Given the description of an element on the screen output the (x, y) to click on. 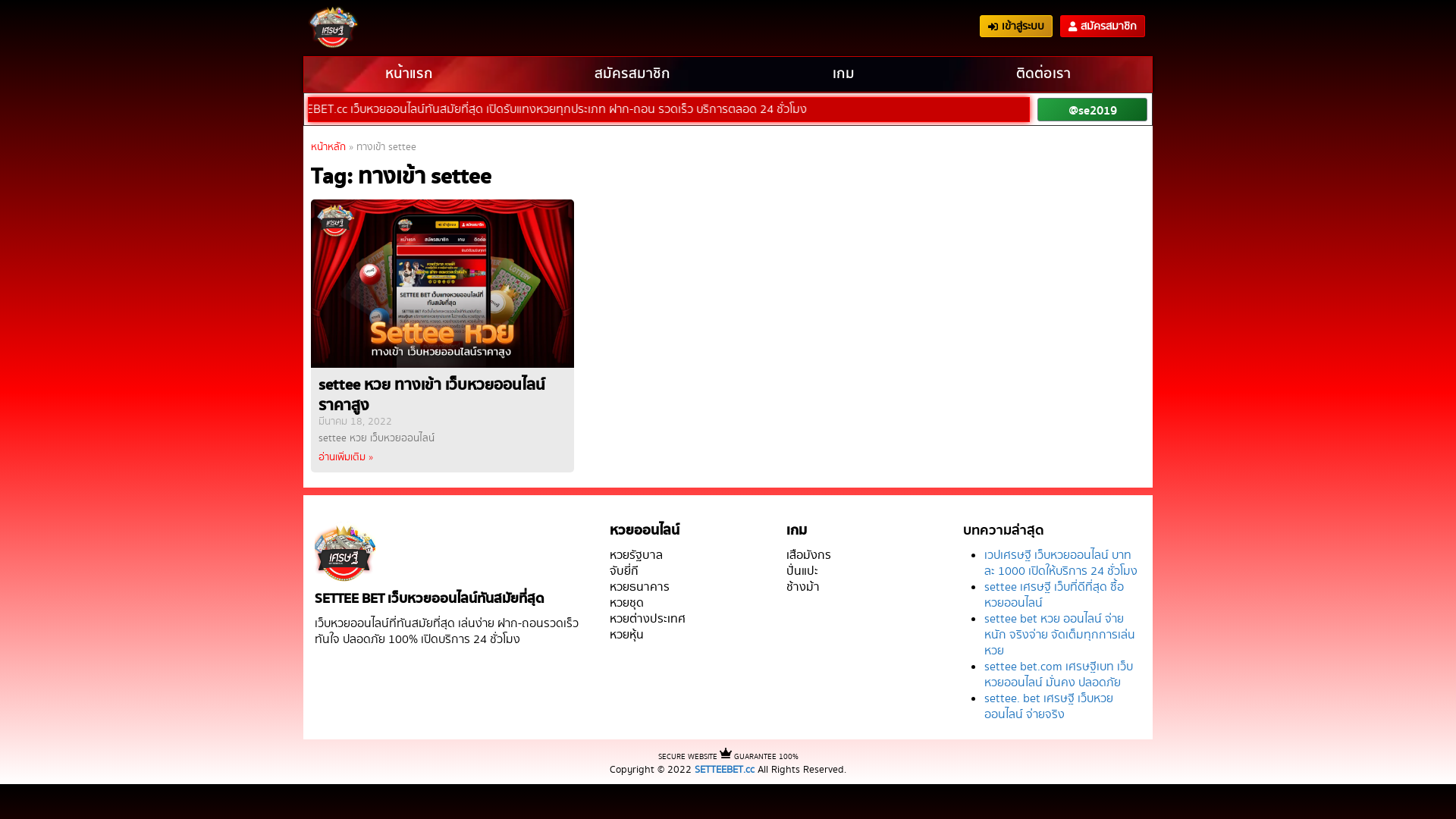
SETTEEBET.cc Element type: text (724, 769)
@se2019 Element type: text (1092, 109)
